Given the description of an element on the screen output the (x, y) to click on. 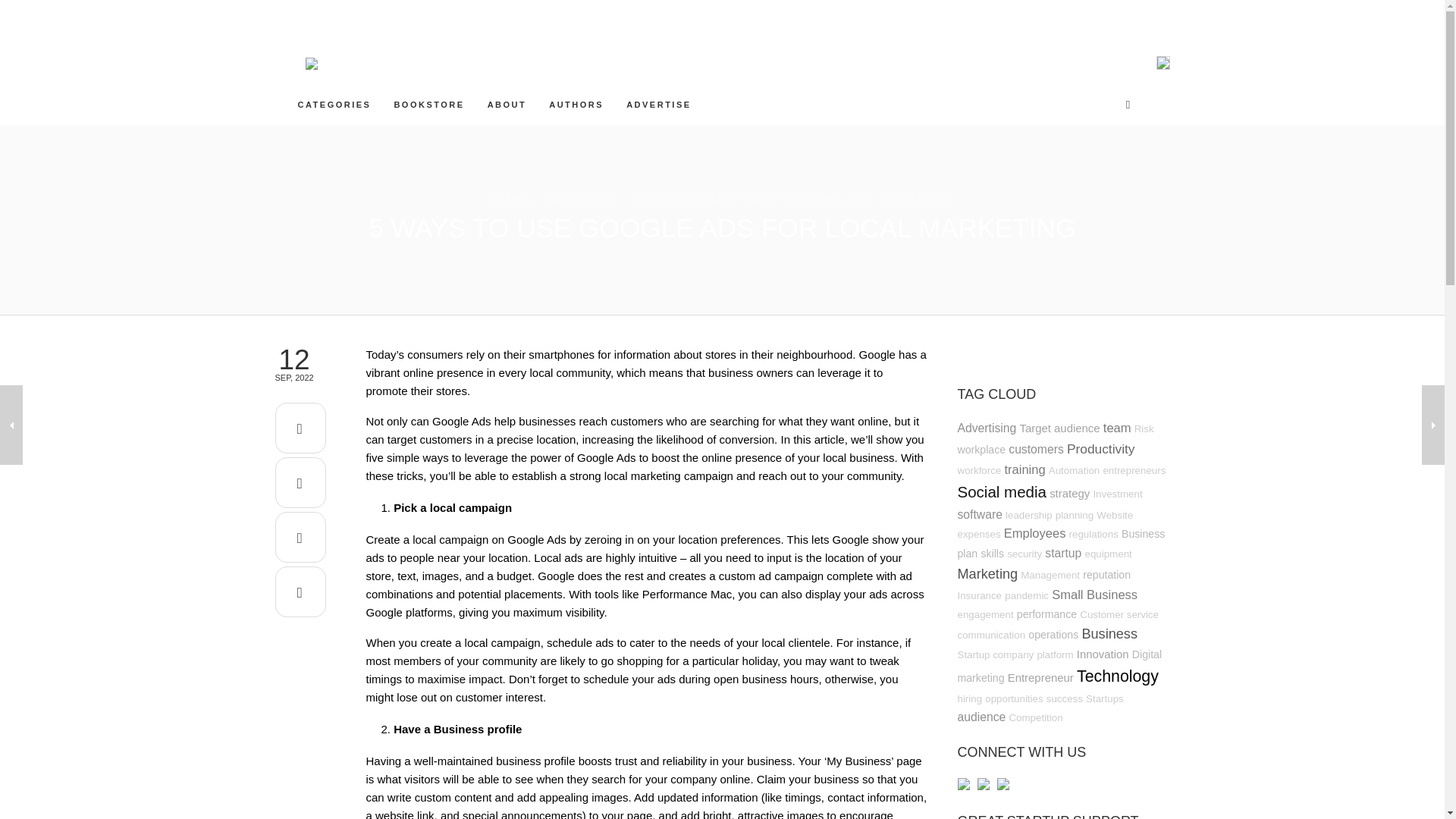
Welcome to The Startup Magazine (507, 103)
ADVERTISE (657, 103)
340 topics (1024, 469)
230 topics (981, 449)
156 topics (978, 470)
CATEGORIES (334, 103)
172 topics (1144, 428)
409 topics (1101, 448)
MARKETING (577, 198)
366 topics (1117, 427)
